Given the description of an element on the screen output the (x, y) to click on. 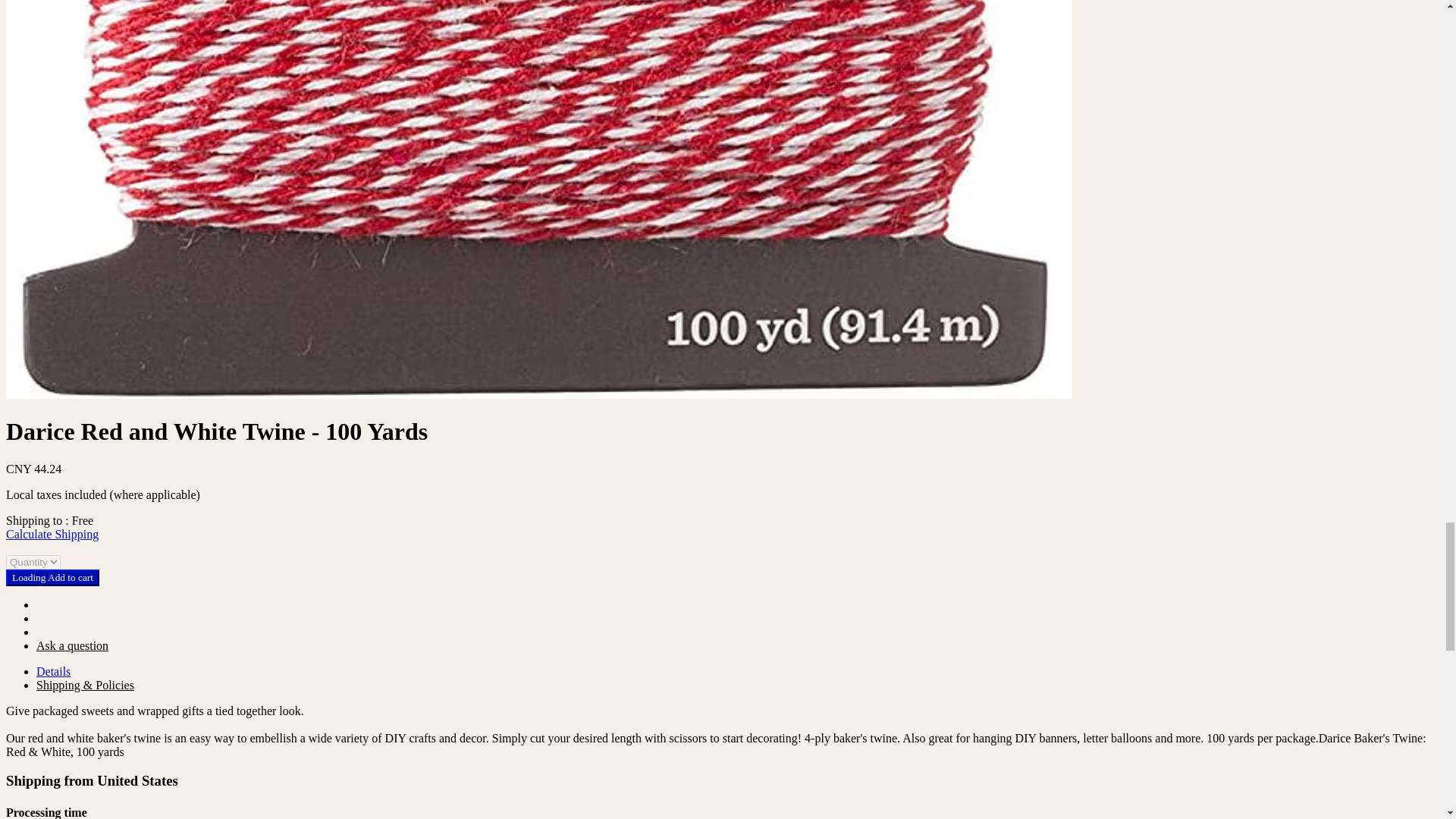
Calculate Shipping (52, 533)
Ask a question (71, 645)
Details (52, 671)
Loading Add to cart (52, 577)
